Given the description of an element on the screen output the (x, y) to click on. 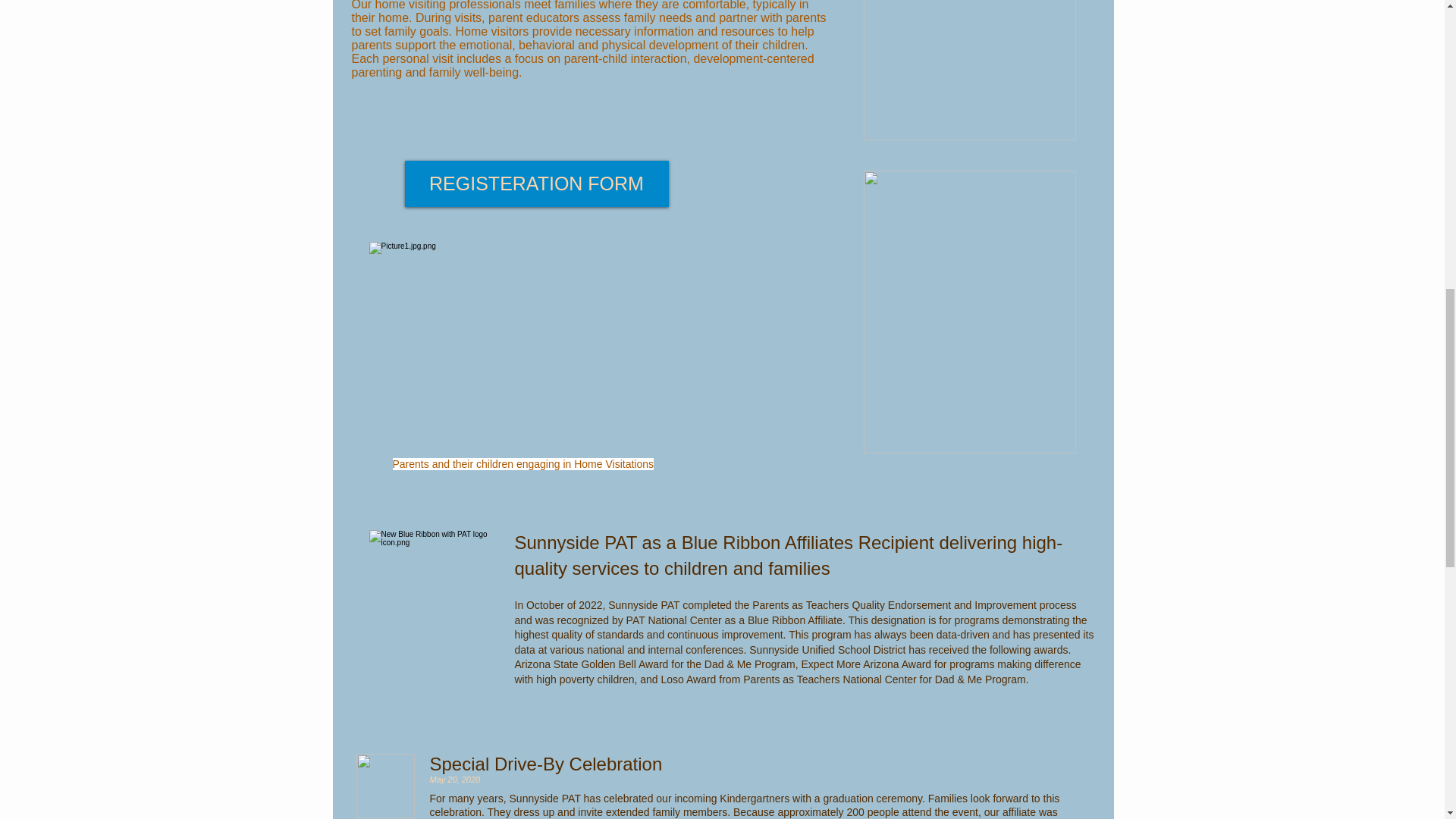
IMG-1115.jpg (969, 311)
PAT drive through Graduation.png (385, 785)
REGISTERATION FORM (536, 183)
